Given the description of an element on the screen output the (x, y) to click on. 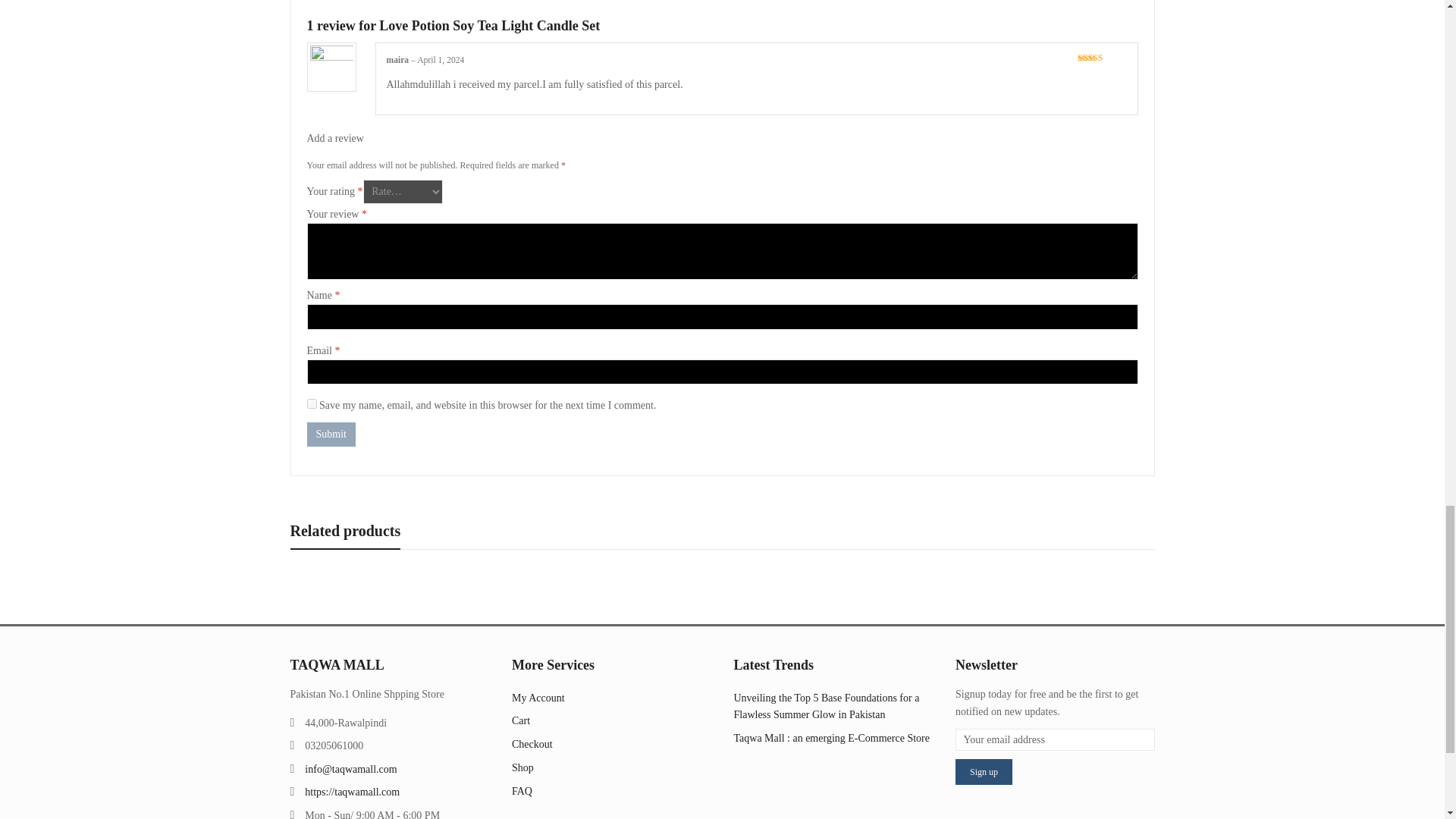
Sign up (983, 771)
Submit (330, 434)
yes (310, 403)
